Given the description of an element on the screen output the (x, y) to click on. 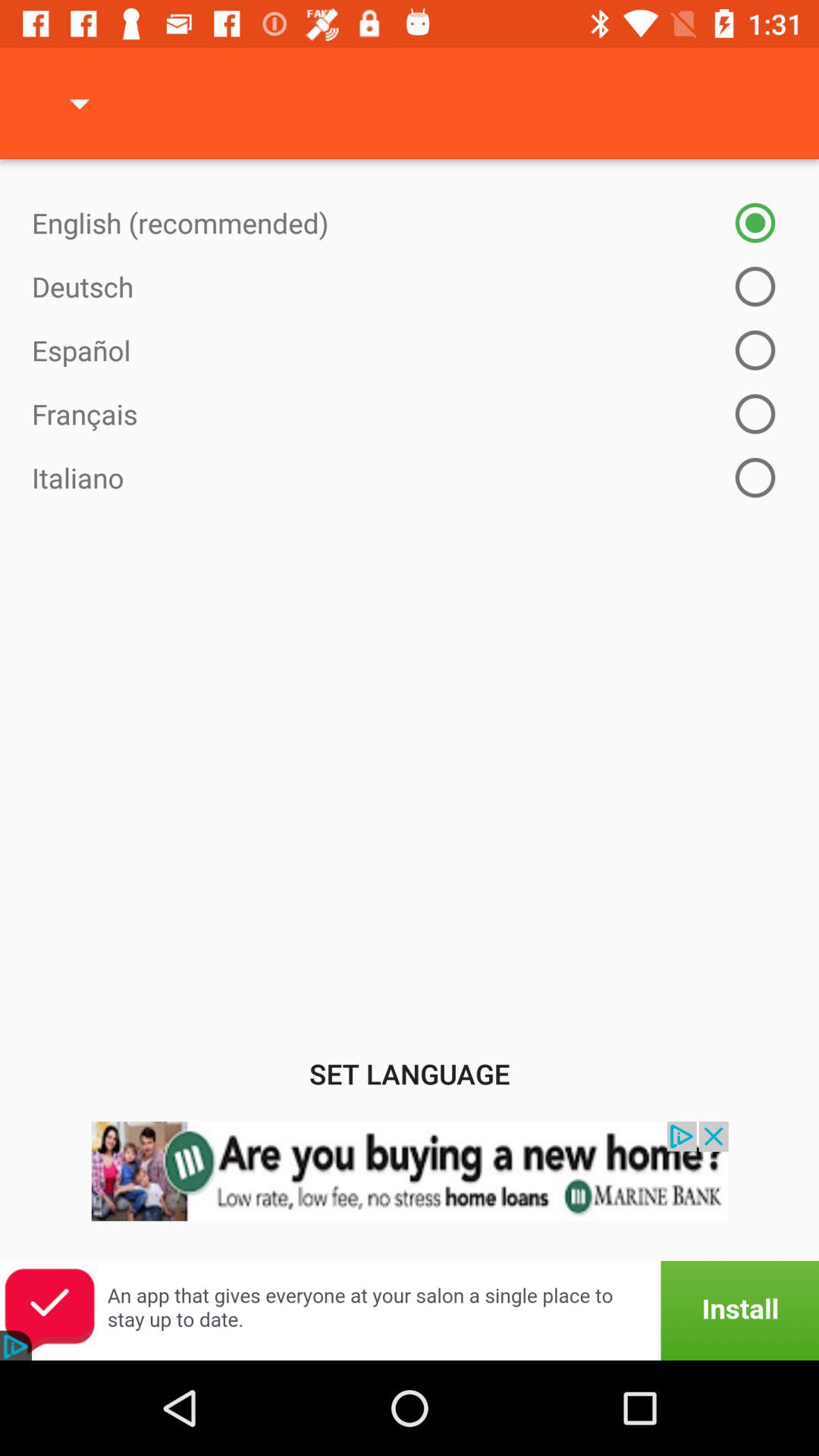
view advertisement (409, 1190)
